Given the description of an element on the screen output the (x, y) to click on. 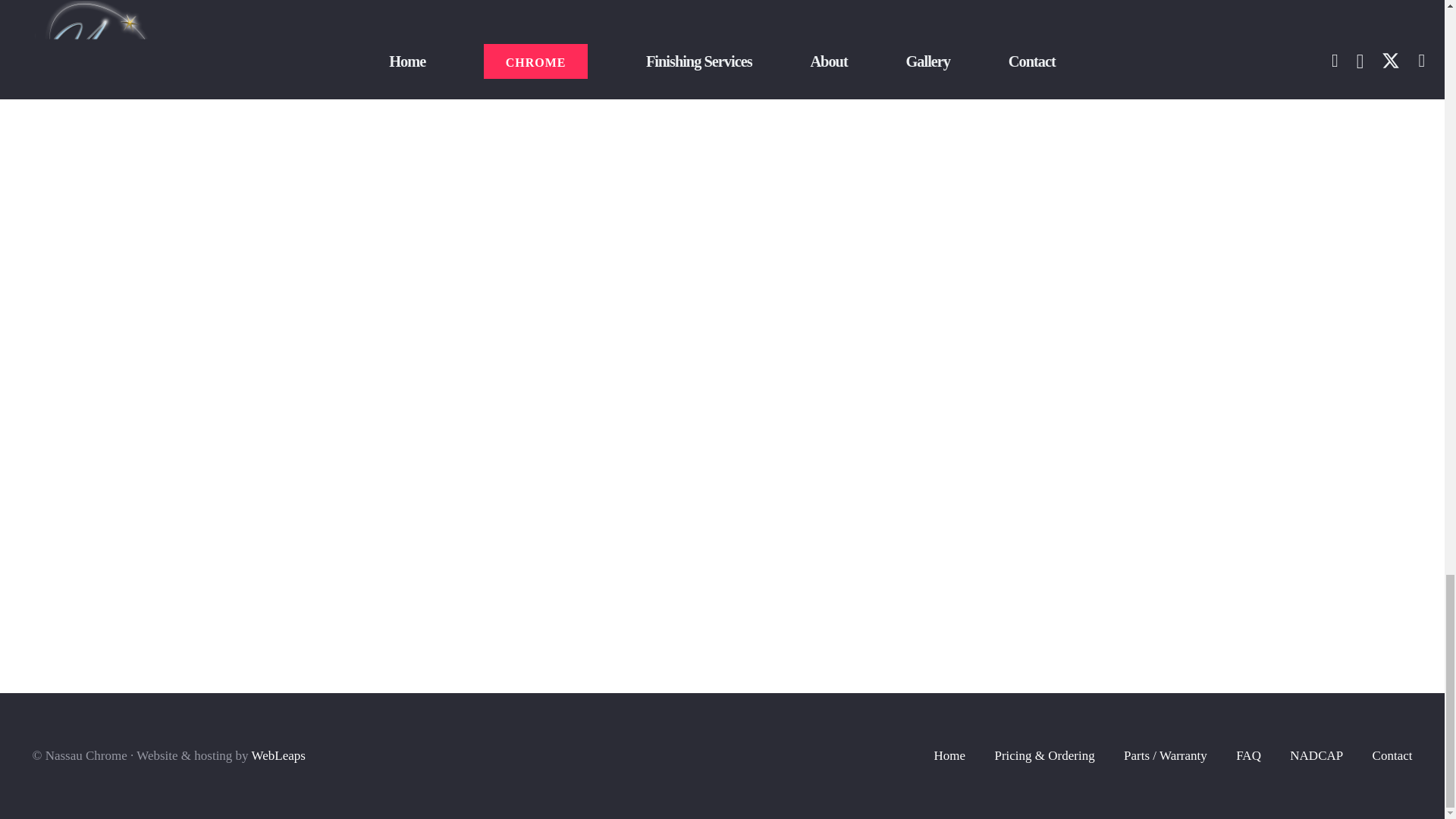
Contact (1392, 755)
FAQ (1248, 755)
NADCAP (1316, 755)
WebLeaps (278, 755)
Home (950, 755)
